Given the description of an element on the screen output the (x, y) to click on. 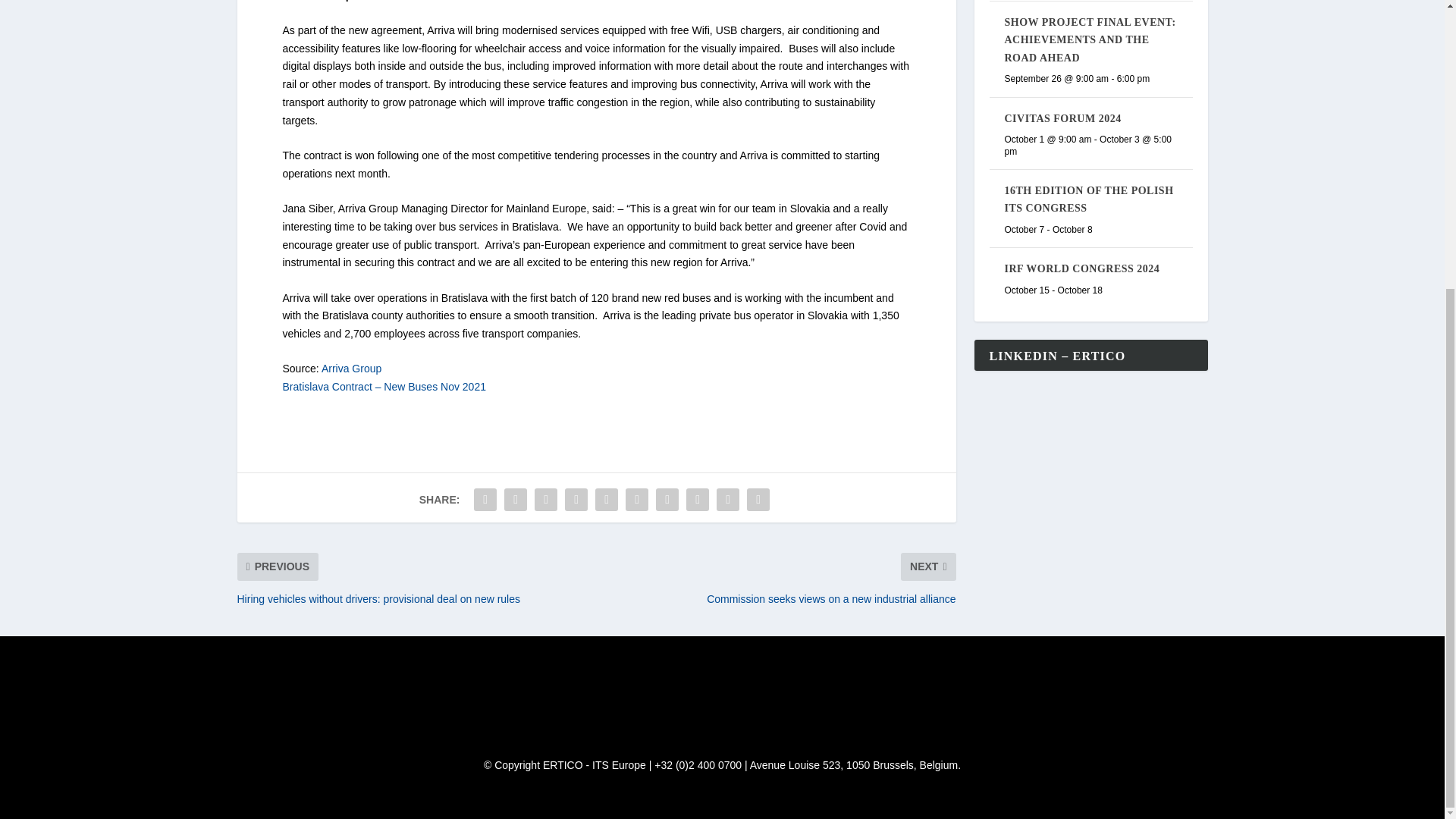
Share "Arriva wins new contract in Slovakia" via Pinterest (606, 499)
Share "Arriva wins new contract in Slovakia" via Email (727, 499)
Share "Arriva wins new contract in Slovakia" via LinkedIn (636, 499)
Share "Arriva wins new contract in Slovakia" via Print (757, 499)
Share "Arriva wins new contract in Slovakia" via Facebook (485, 499)
Share "Arriva wins new contract in Slovakia" via Buffer (667, 499)
Share "Arriva wins new contract in Slovakia" via Twitter (515, 499)
Share "Arriva wins new contract in Slovakia" via Stumbleupon (697, 499)
Arriva Group (351, 368)
Share "Arriva wins new contract in Slovakia" via Tumblr (575, 499)
SHOW PROJECT FINAL EVENT: ACHIEVEMENTS AND THE ROAD AHEAD (1089, 39)
CIVITAS FORUM 2024 (1062, 118)
